Given the description of an element on the screen output the (x, y) to click on. 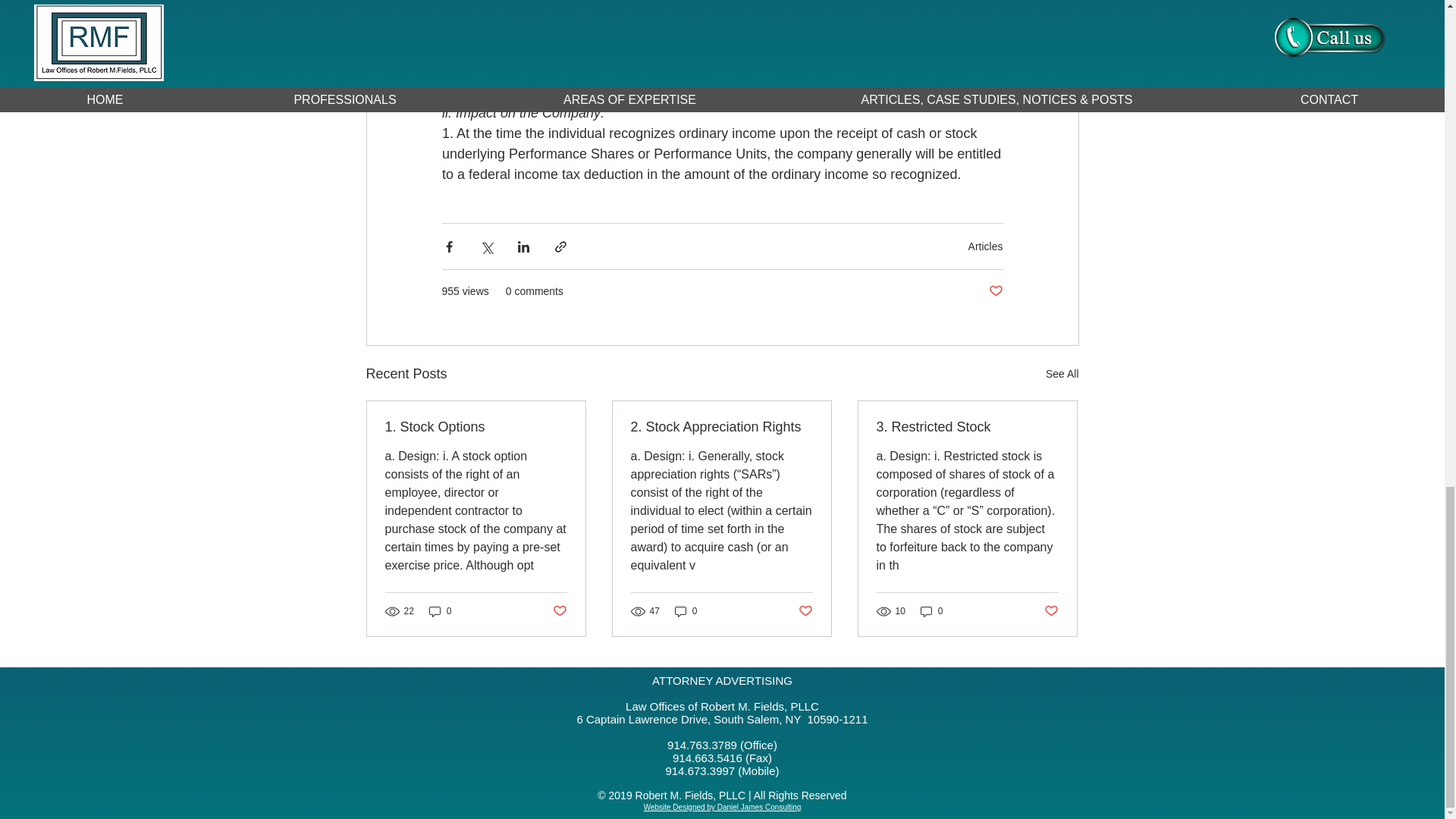
Website Designed by Daniel James Consulting (722, 807)
Post not marked as liked (558, 611)
Articles (985, 245)
2. Stock Appreciation Rights (721, 426)
0 (931, 610)
0 (440, 610)
Post not marked as liked (1050, 611)
0 (685, 610)
3. Restricted Stock (967, 426)
ATTORNEY ADVERTISING (722, 680)
1. Stock Options (476, 426)
Post not marked as liked (995, 291)
See All (1061, 373)
Post not marked as liked (804, 611)
